Given the description of an element on the screen output the (x, y) to click on. 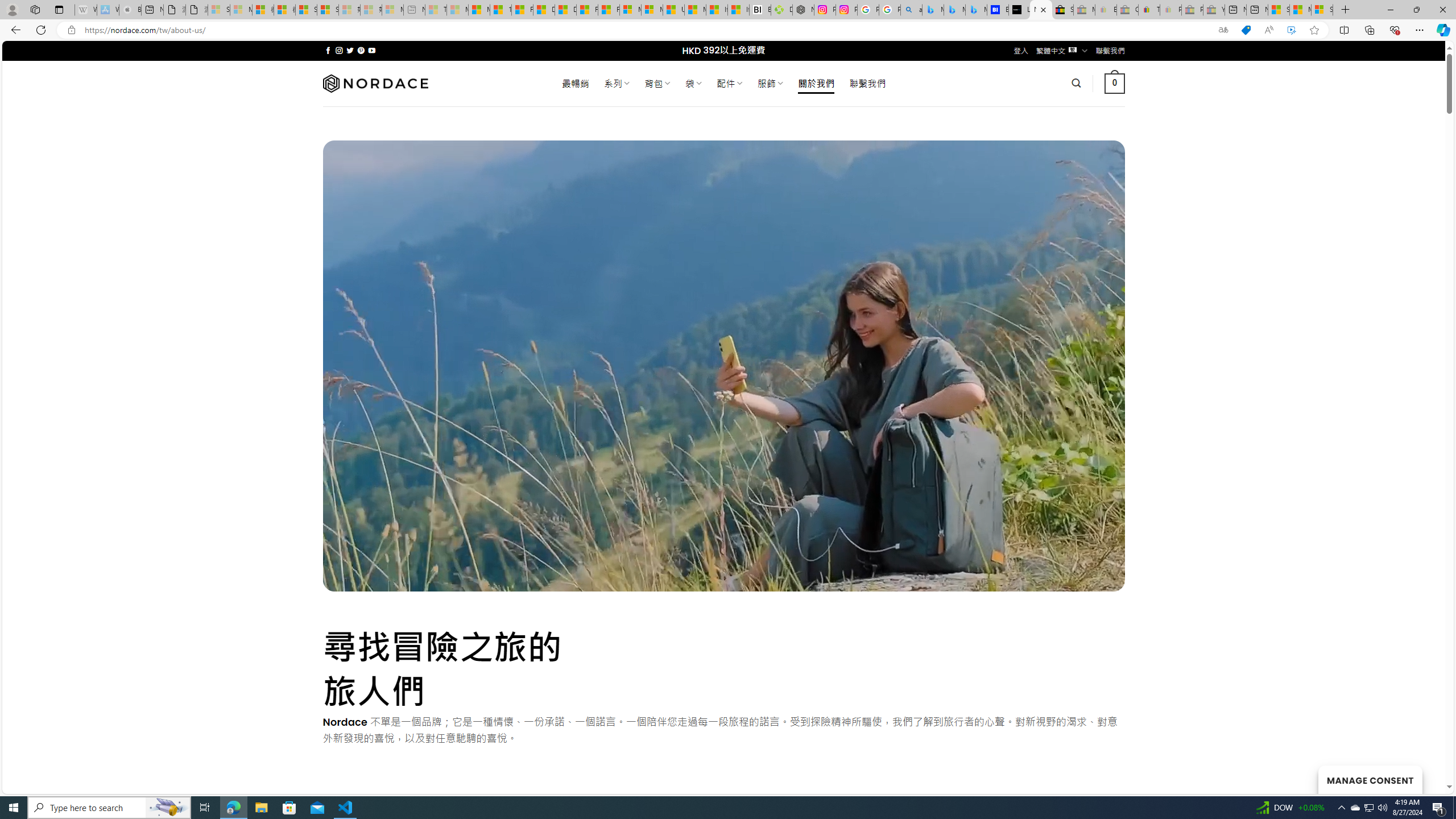
Press Room - eBay Inc. - Sleeping (1192, 9)
